Given the description of an element on the screen output the (x, y) to click on. 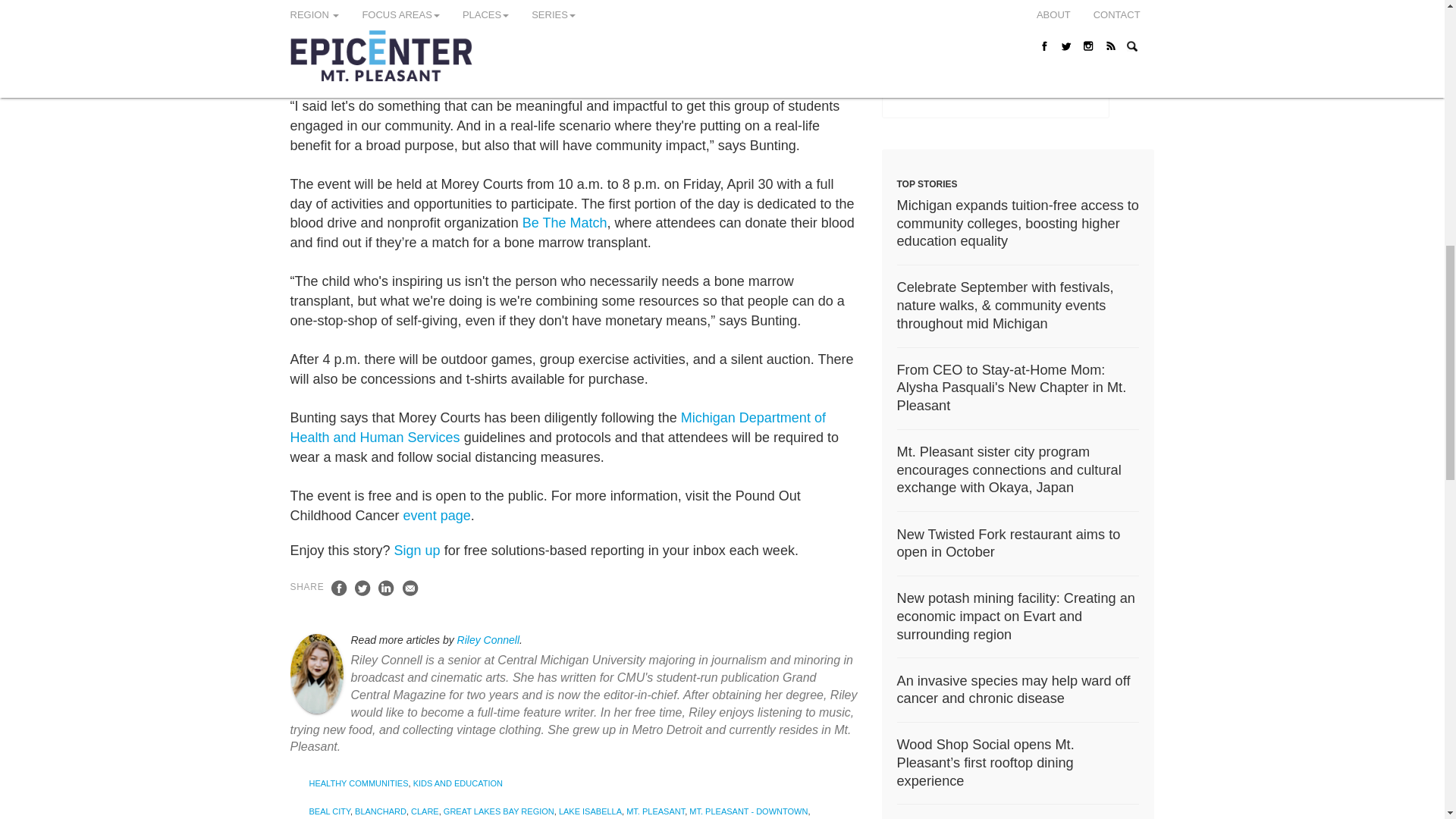
View more stories related to Clare (424, 810)
View more stories related to Mt. Pleasant (655, 810)
View more stories related to Lake Isabella (590, 810)
View more stories related to Beal City (329, 810)
View more stories related to Mt. Pleasant - Downtown (748, 810)
View more stories related to Great Lakes Bay Region (499, 810)
View more stories related to Healthy Communities (358, 782)
View more stories related to Blanchard (380, 810)
View more stories related to Kids and Education (457, 782)
